Given the description of an element on the screen output the (x, y) to click on. 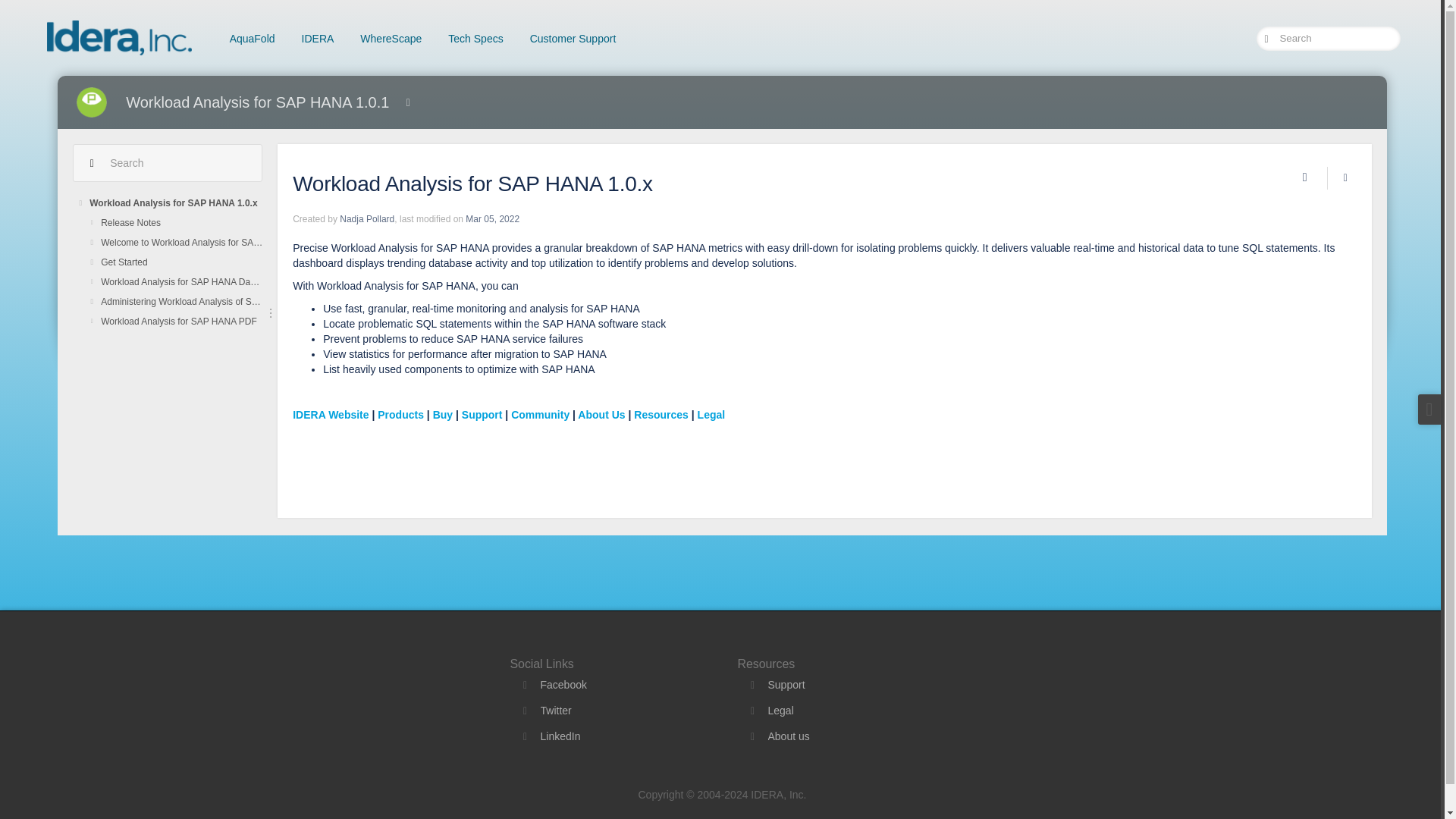
Release Notes (181, 222)
AquaFold (252, 37)
Workload Analysis for SAP HANA 1.0.x (175, 202)
Workload Analysis for SAP HANA 1.0.1 (256, 101)
Customer Support (572, 37)
Release Notes (181, 222)
Tech Specs (474, 37)
Workload Analysis for SAP HANA 1.0.1 (256, 101)
Administering Workload Analysis of SAP HANA (181, 301)
Welcome to Workload Analysis for SAP HANA (181, 242)
